Given the description of an element on the screen output the (x, y) to click on. 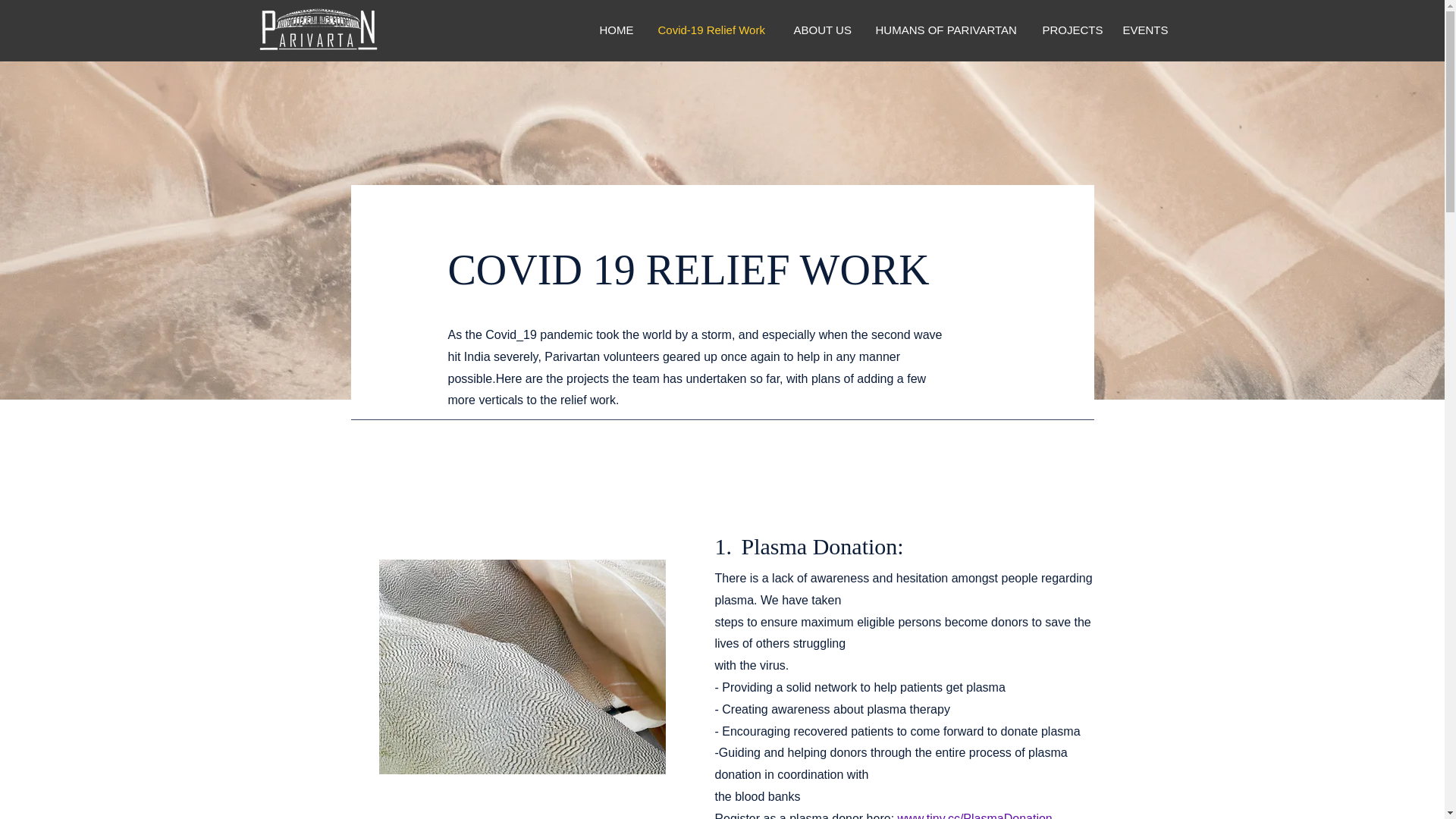
PROJECTS (1071, 30)
ABOUT US (823, 30)
HUMANS OF PARIVARTAN (947, 30)
EVENTS (1144, 30)
Covid-19 Relief Work (713, 30)
HOME (617, 30)
